Given the description of an element on the screen output the (x, y) to click on. 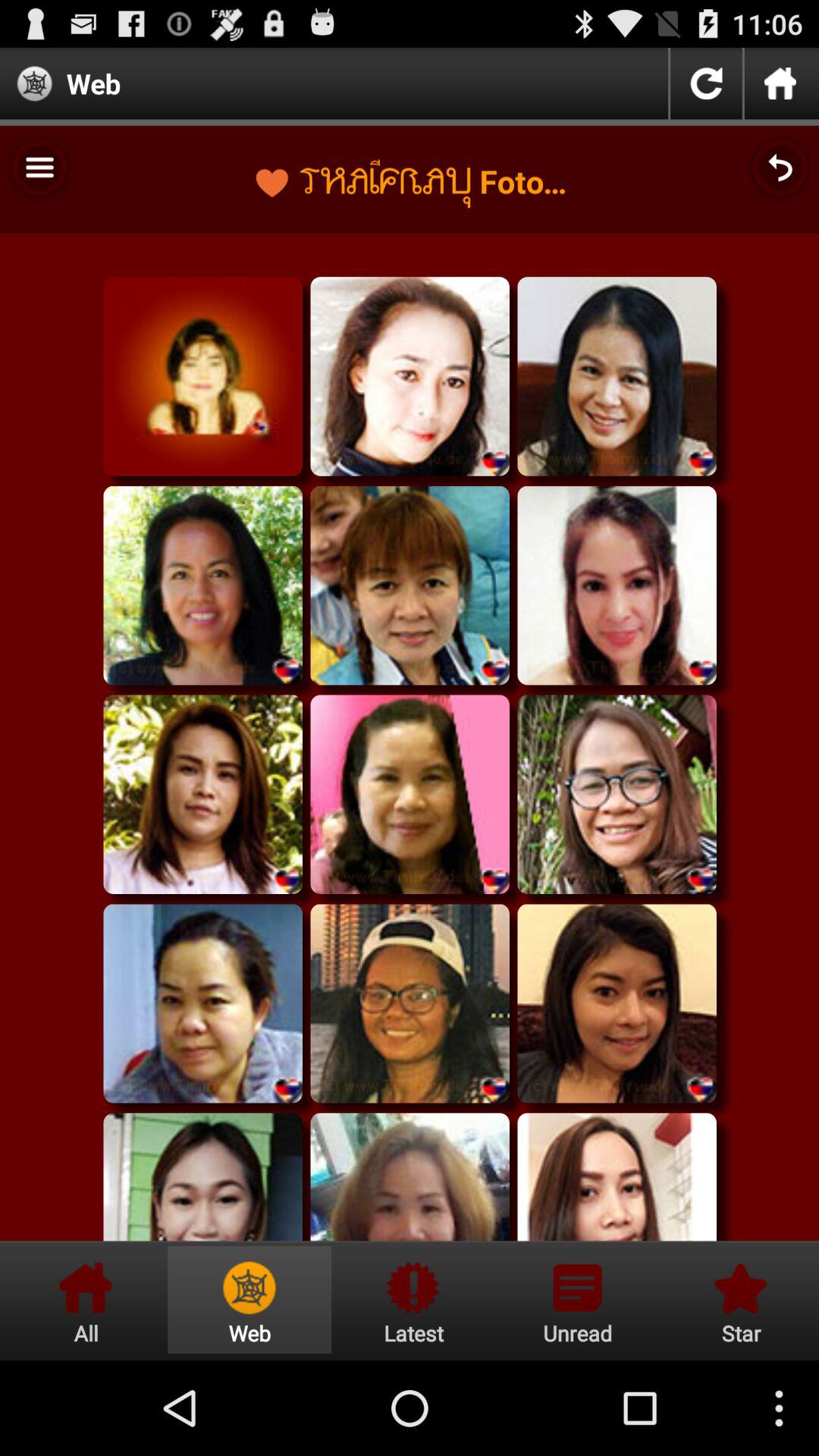
explore latest profiles (413, 1299)
